Given the description of an element on the screen output the (x, y) to click on. 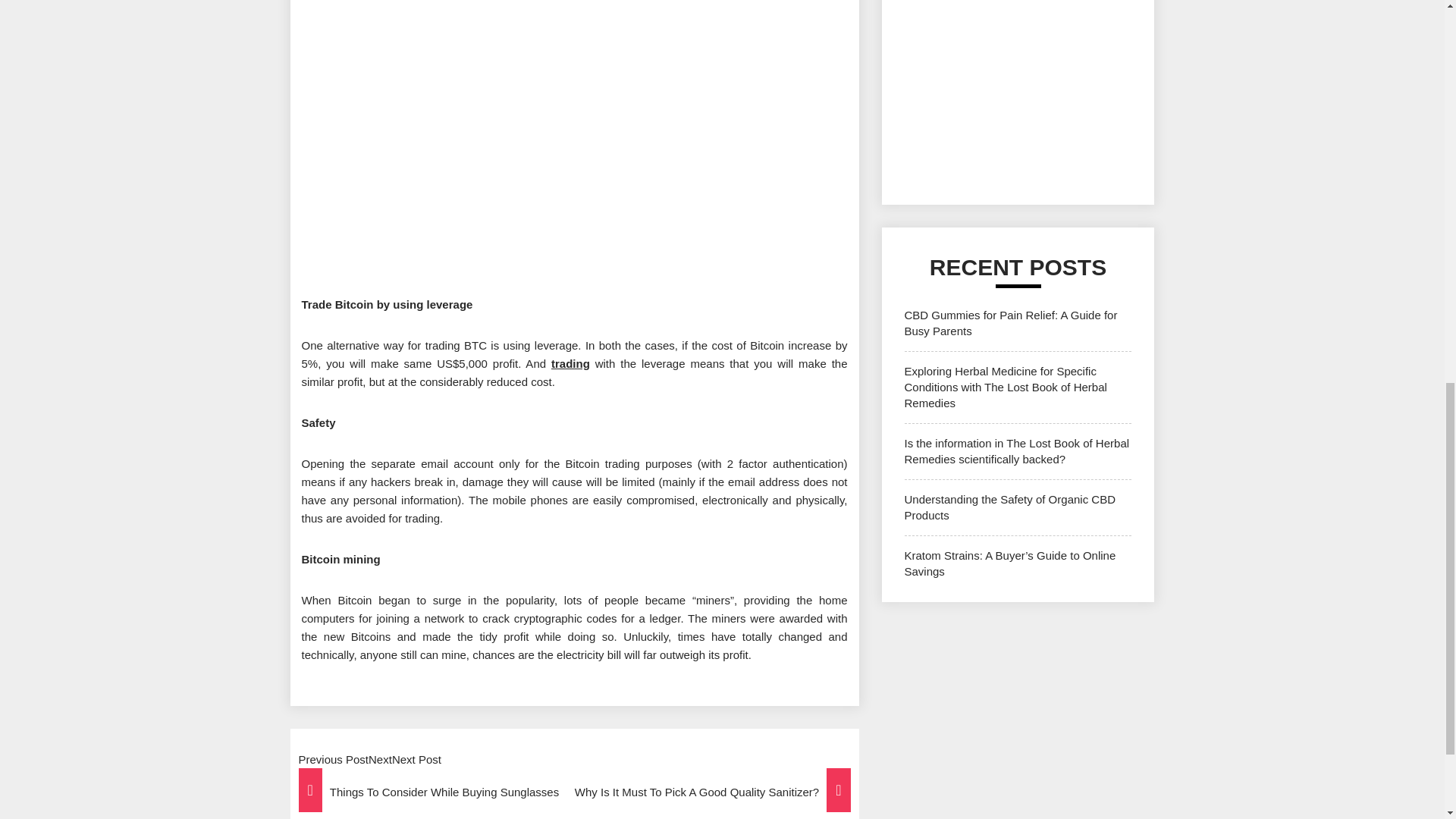
Understanding the Safety of Organic CBD Products (1009, 507)
trading (570, 363)
CBD Gummies for Pain Relief: A Guide for Busy Parents (1010, 322)
